Given the description of an element on the screen output the (x, y) to click on. 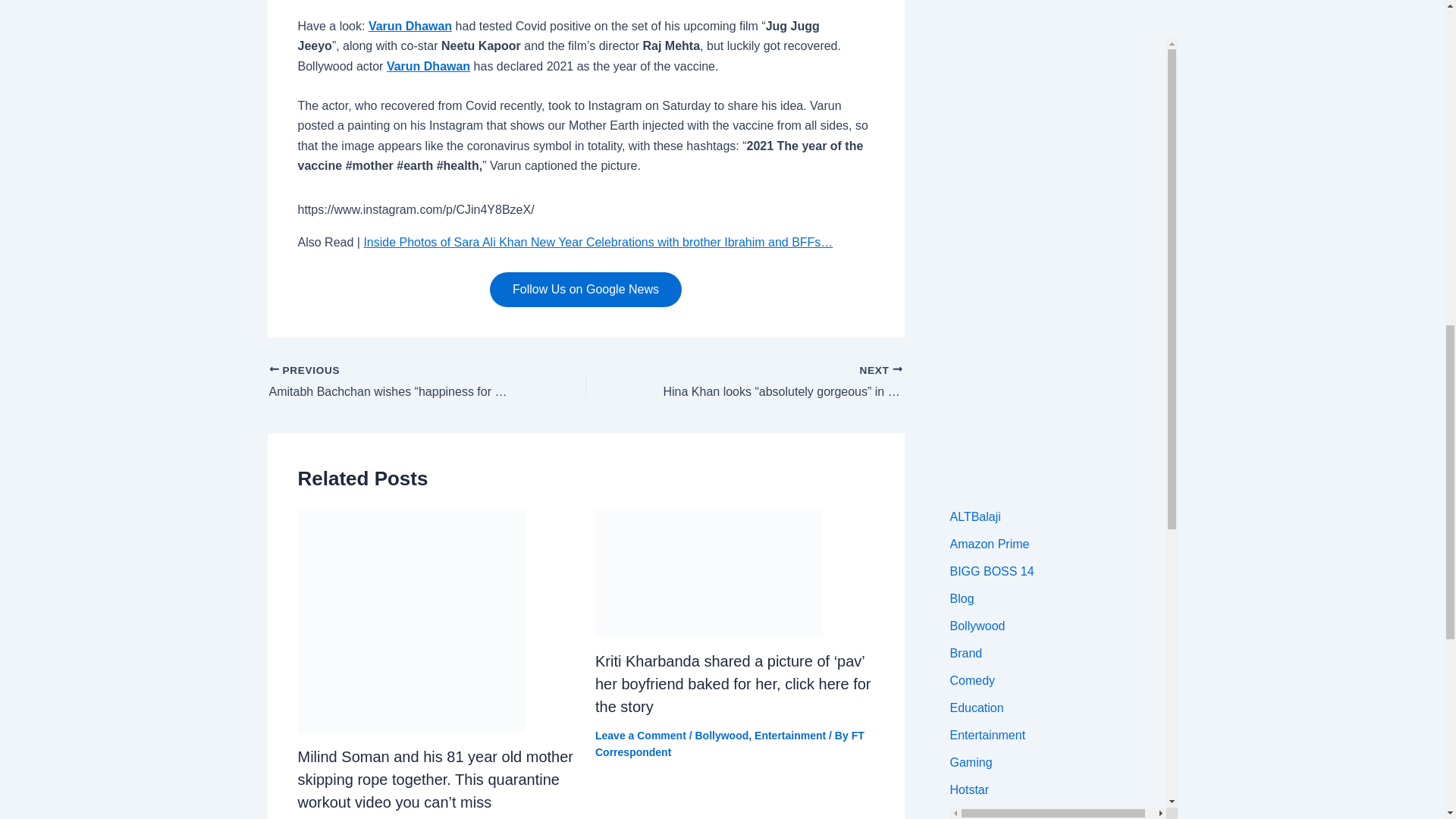
Varun Dhawan (409, 25)
Varun Dhawan (428, 65)
View all posts by FT Correspondent (729, 743)
Follow Us on Google News (585, 289)
